Given the description of an element on the screen output the (x, y) to click on. 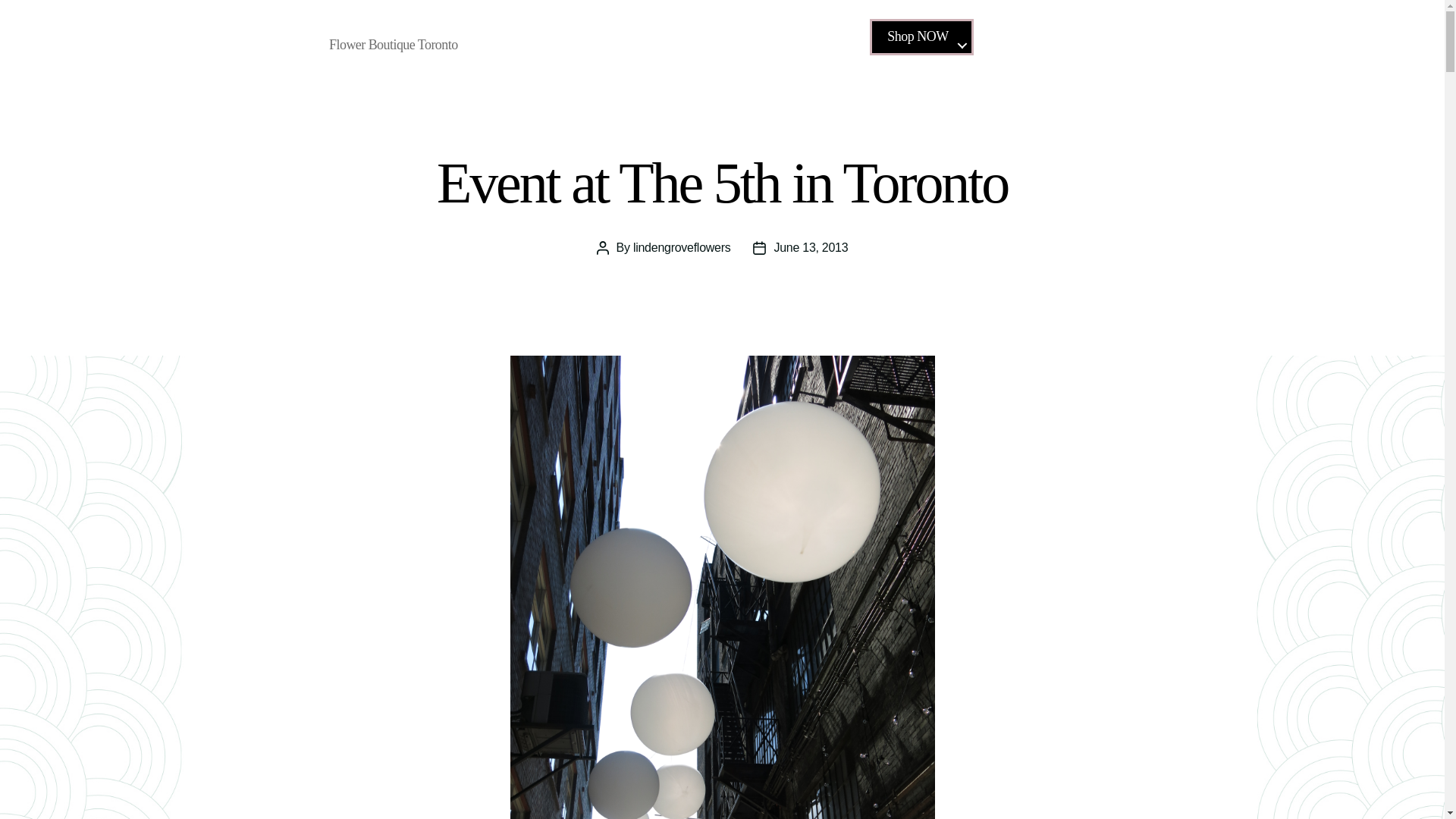
Shop NOW (921, 36)
Workshops (1152, 42)
Galleries (1073, 42)
About (1008, 42)
Start shopping (1316, 42)
Workshops (1152, 42)
Contact (1227, 42)
